Given the description of an element on the screen output the (x, y) to click on. 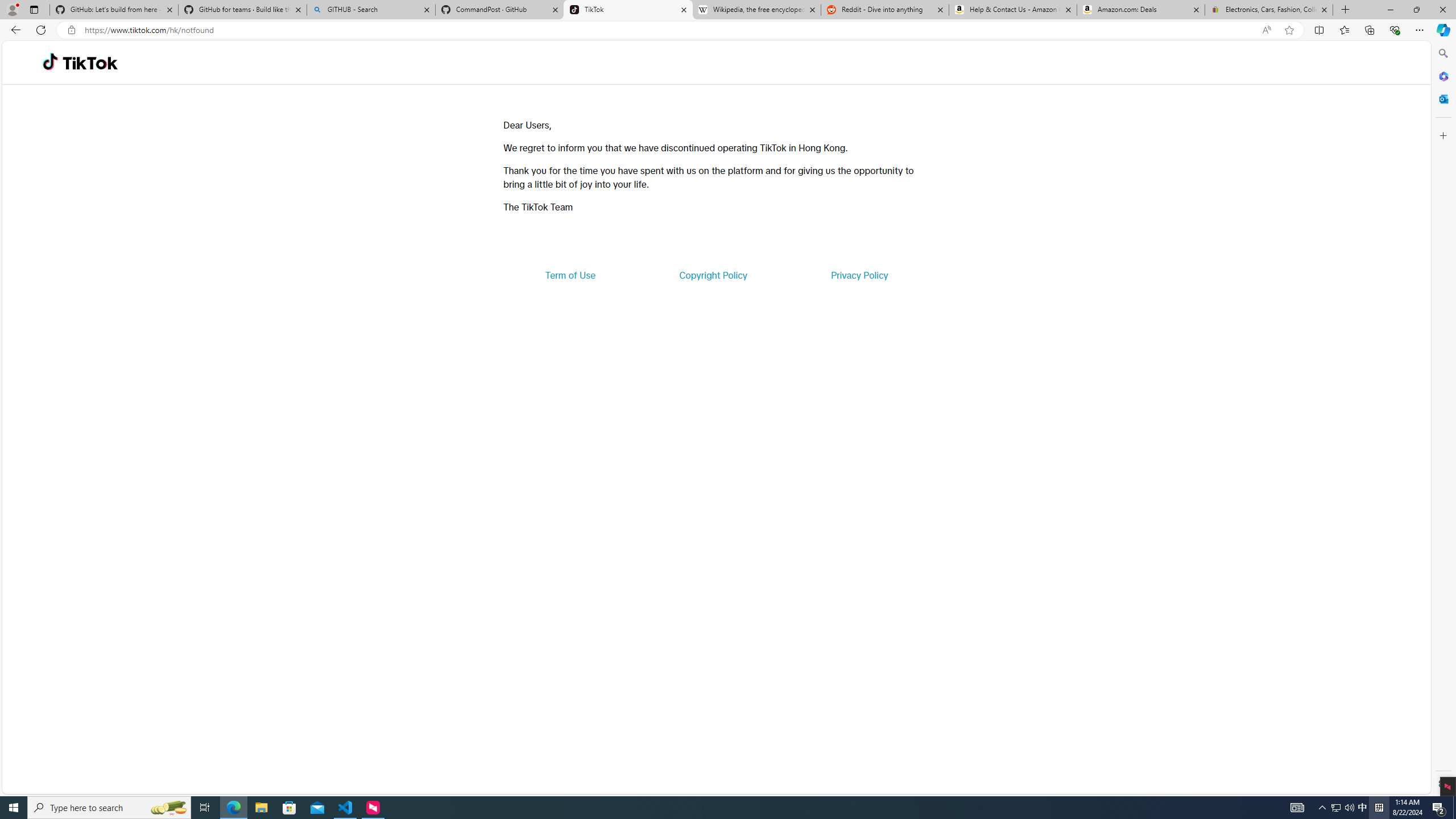
Privacy Policy (858, 274)
